Given the description of an element on the screen output the (x, y) to click on. 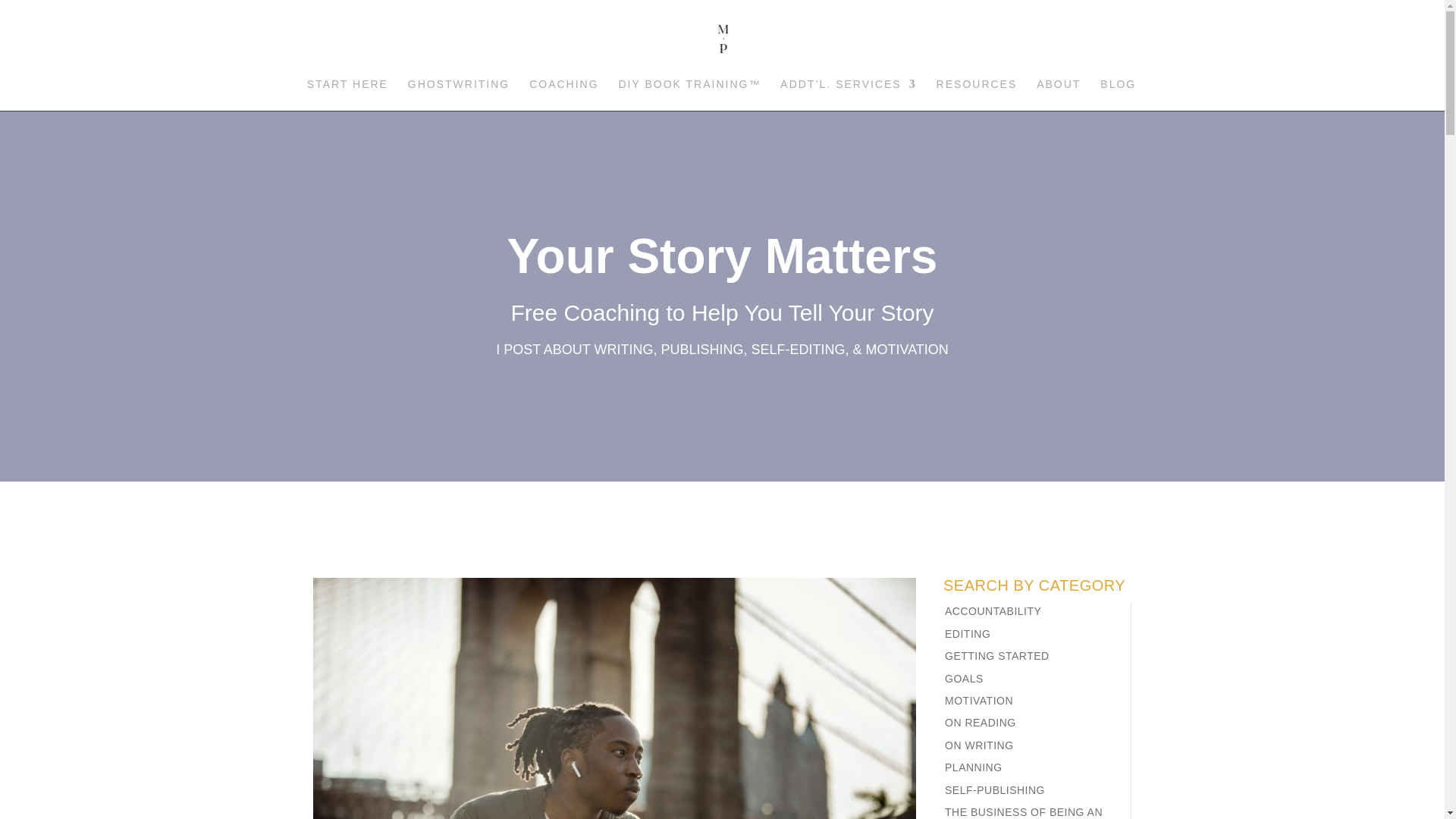
BLOG (1117, 94)
GHOSTWRITING (458, 94)
ABOUT (1058, 94)
START HERE (347, 94)
RESOURCES (976, 94)
COACHING (563, 94)
